Given the description of an element on the screen output the (x, y) to click on. 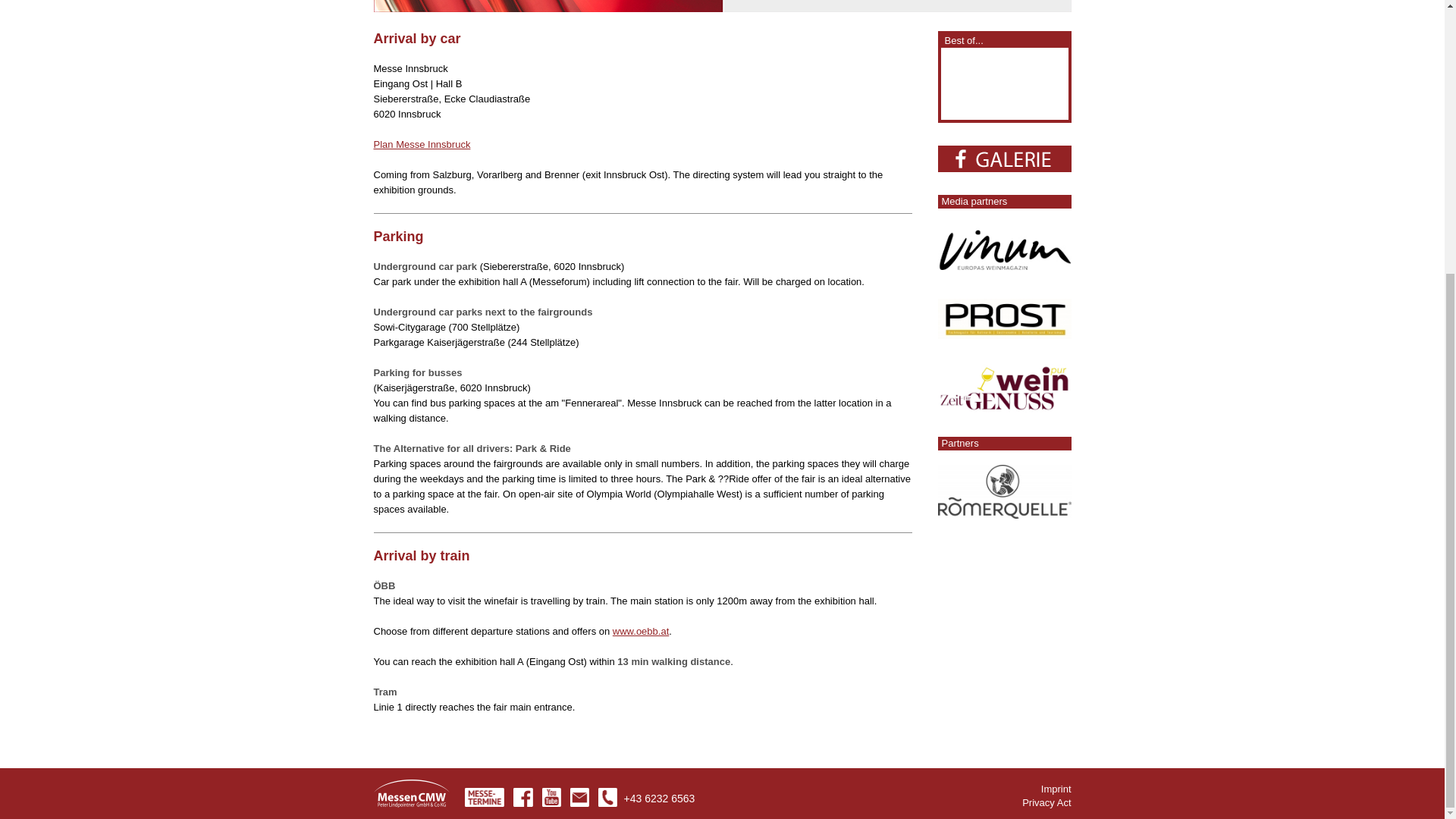
Imprint (1056, 387)
Plan Messe Innsbruck (421, 143)
www.oebb.at (640, 631)
Privacy Act (1046, 400)
